Given the description of an element on the screen output the (x, y) to click on. 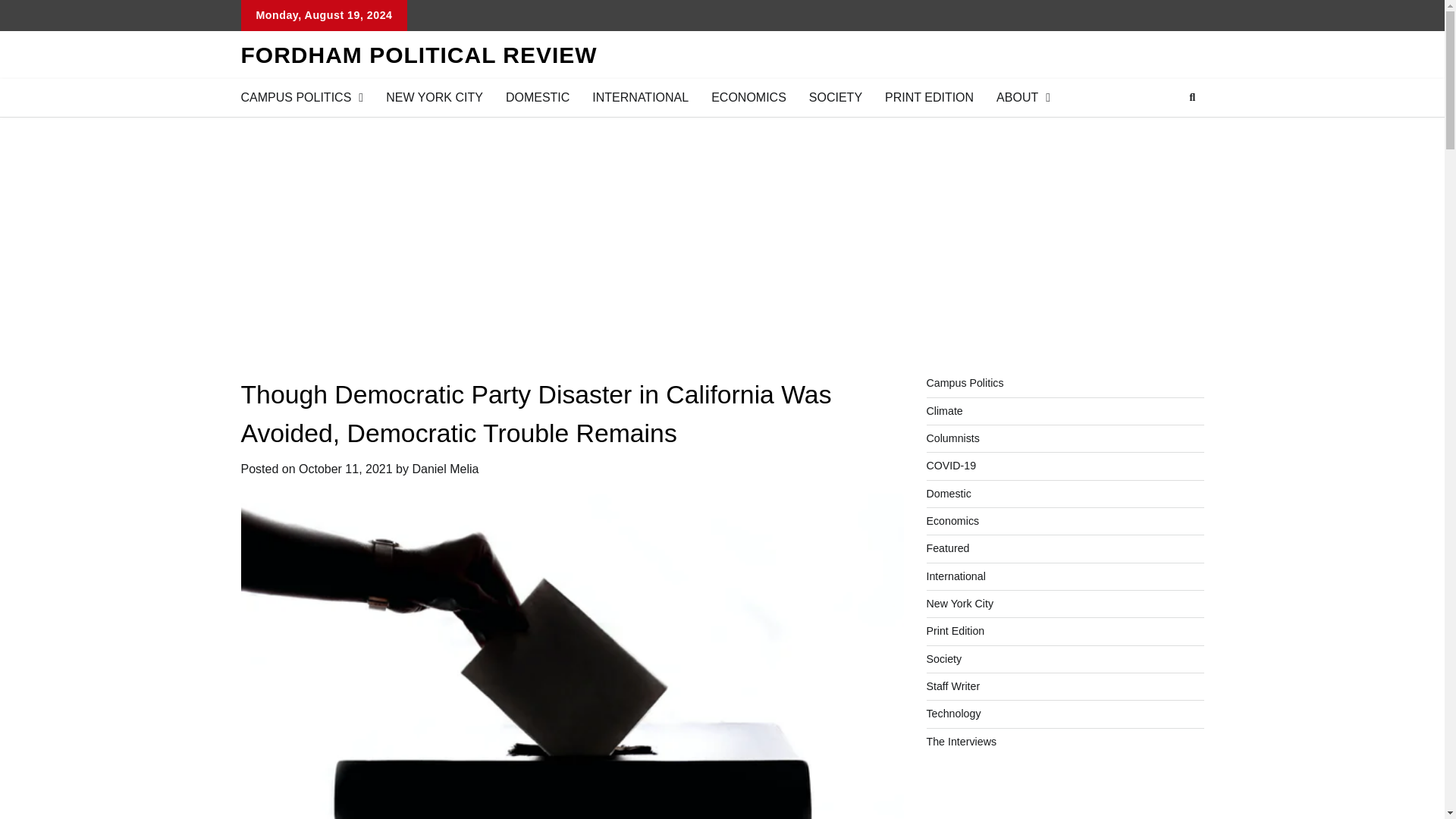
INTERNATIONAL (640, 97)
October 11, 2021 (345, 468)
CAMPUS POLITICS (301, 97)
ECONOMICS (748, 97)
FORDHAM POLITICAL REVIEW (418, 54)
DOMESTIC (537, 97)
Search (1192, 97)
Daniel Melia (445, 468)
ABOUT (1023, 97)
